Given the description of an element on the screen output the (x, y) to click on. 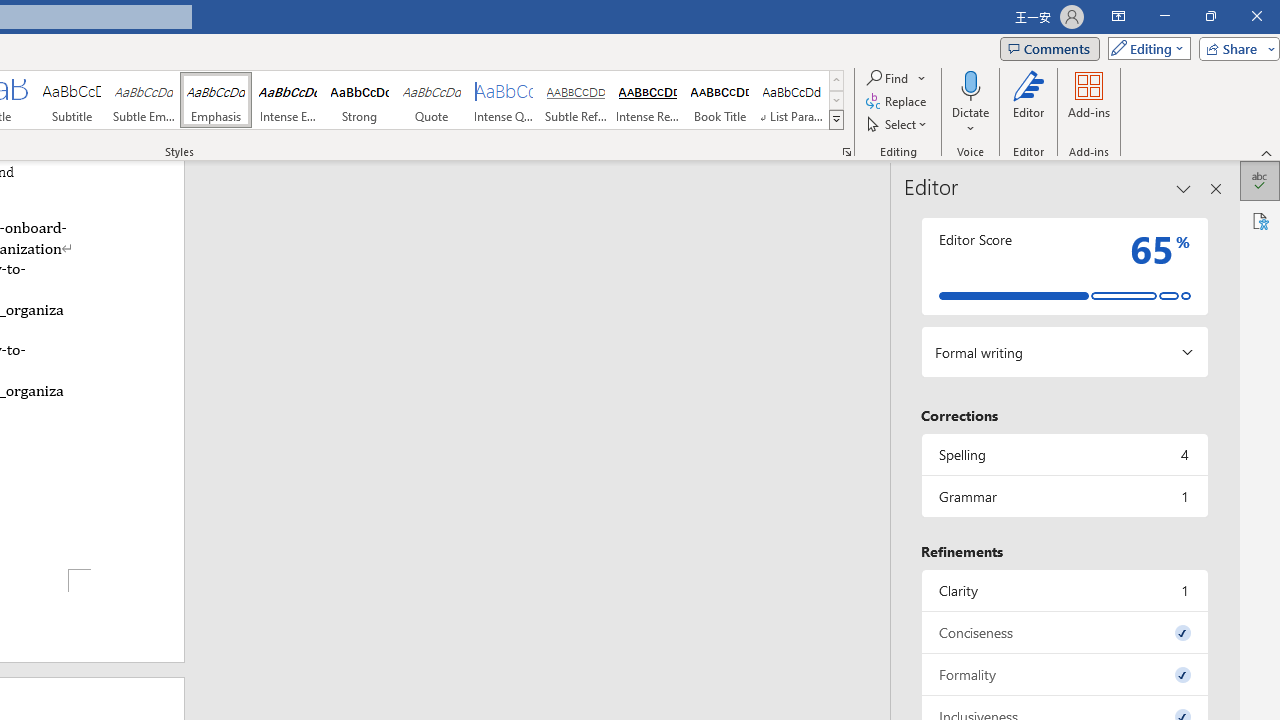
Accessibility (1260, 220)
Conciseness, 0 issues. Press space or enter to review items. (1064, 632)
Quote (431, 100)
Grammar, 1 issue. Press space or enter to review items. (1064, 495)
Emphasis (216, 100)
